Given the description of an element on the screen output the (x, y) to click on. 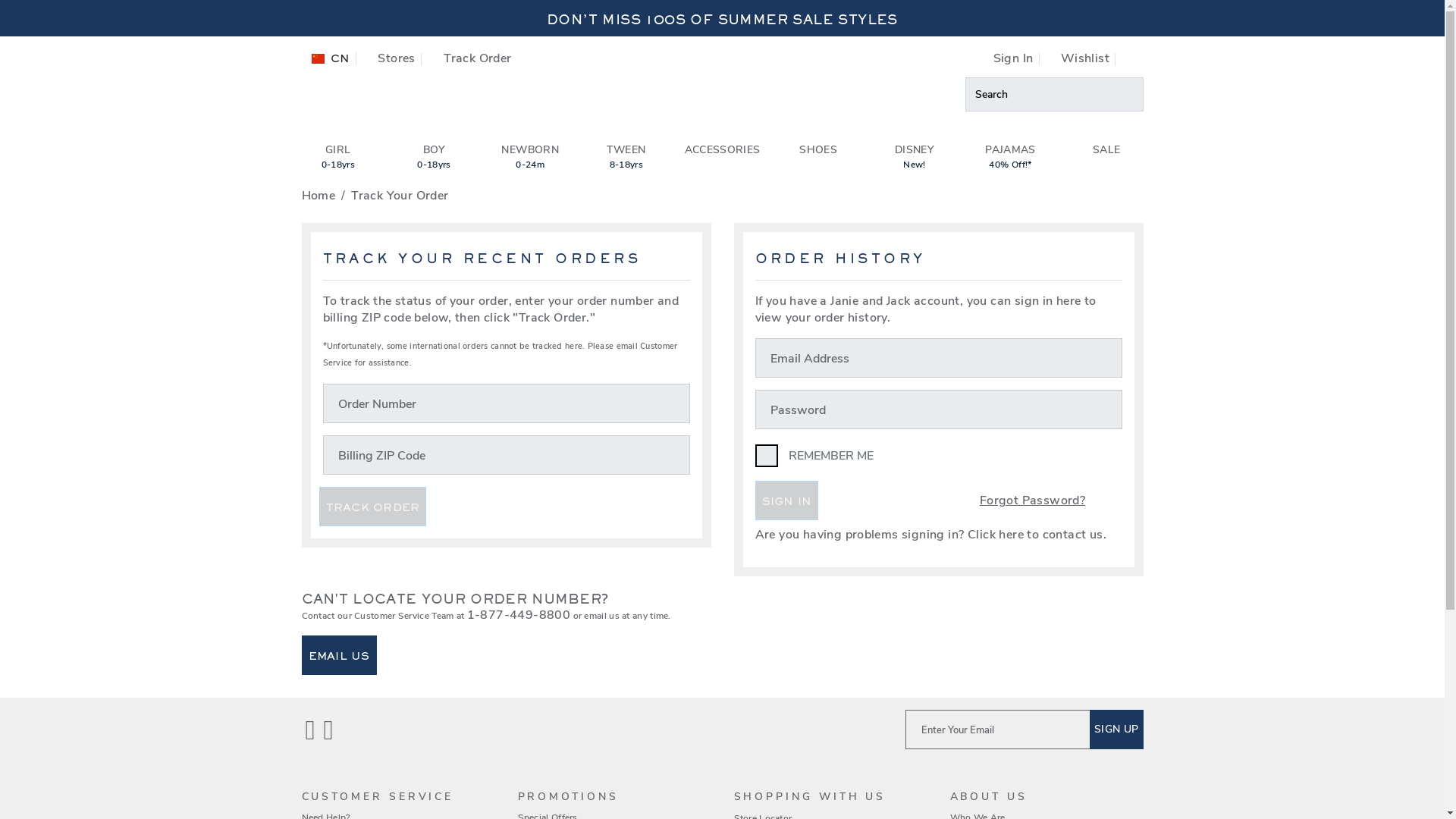
Stores (337, 162)
forgot password? (400, 57)
click to call us (1010, 500)
Stores (518, 614)
Sign In (393, 57)
Wishlist (1010, 57)
0 items in the cart (1079, 57)
Track Order (1132, 53)
Track Order (477, 57)
